Given the description of an element on the screen output the (x, y) to click on. 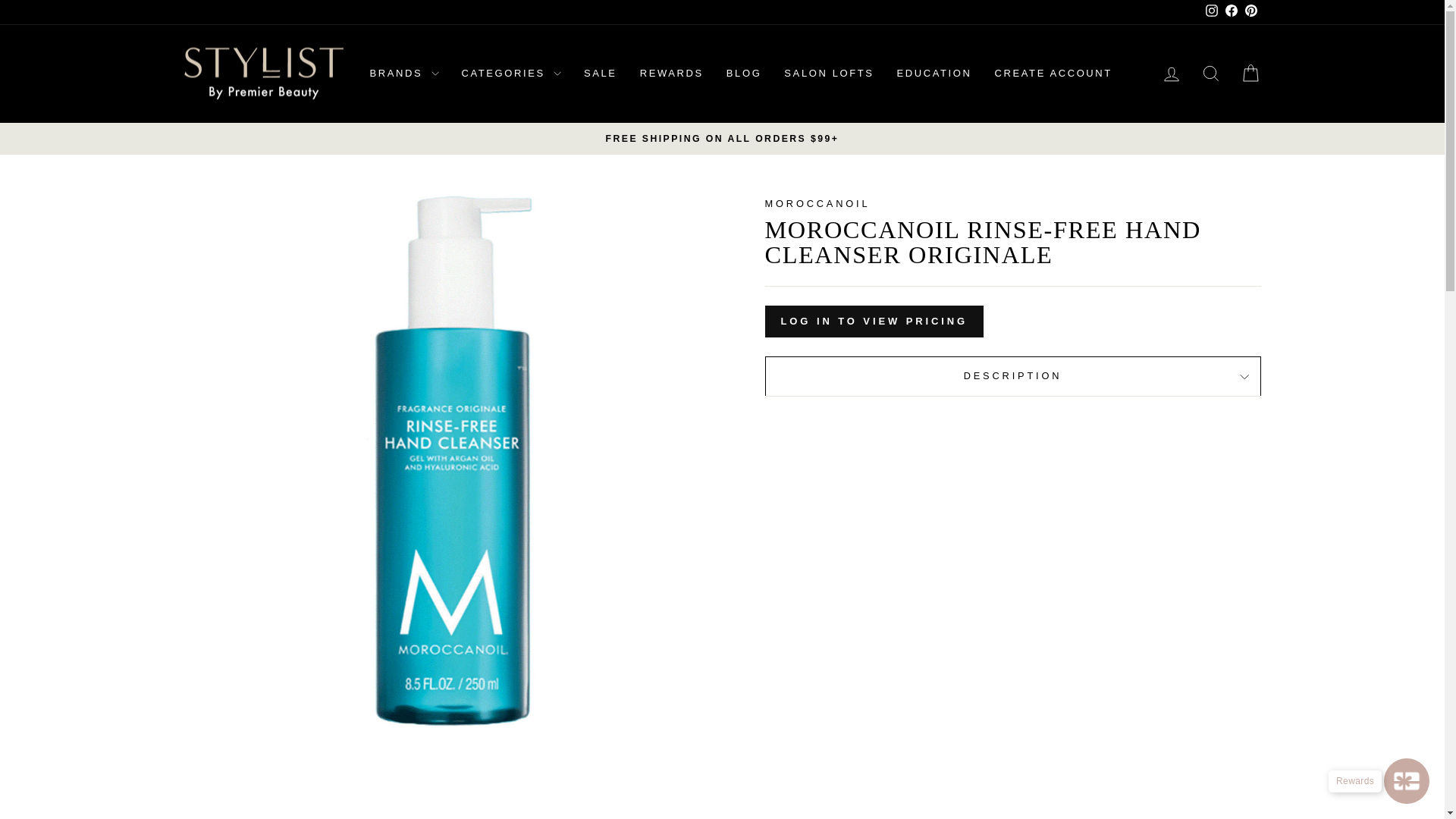
ICON-SEARCH (1210, 73)
ACCOUNT (1170, 74)
instagram (1211, 10)
